Given the description of an element on the screen output the (x, y) to click on. 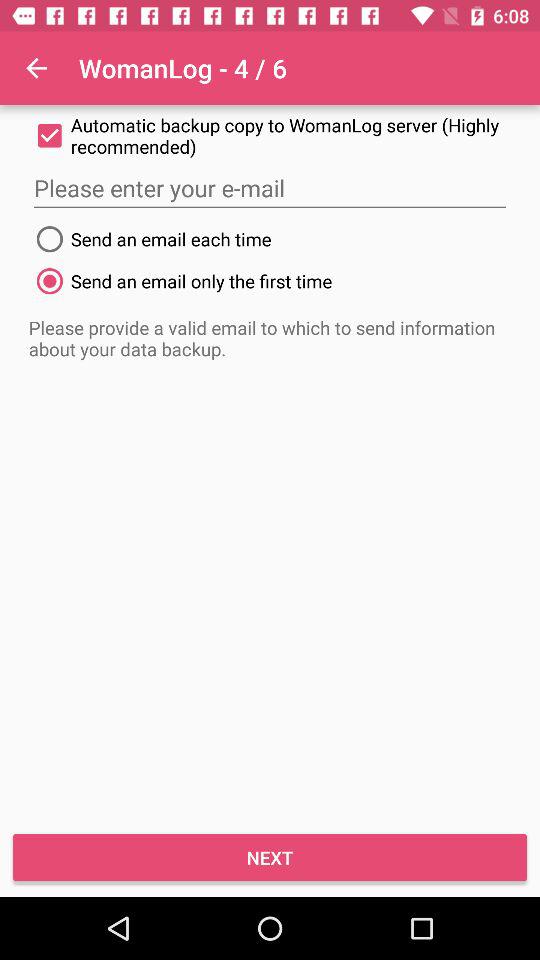
enter email (269, 188)
